Given the description of an element on the screen output the (x, y) to click on. 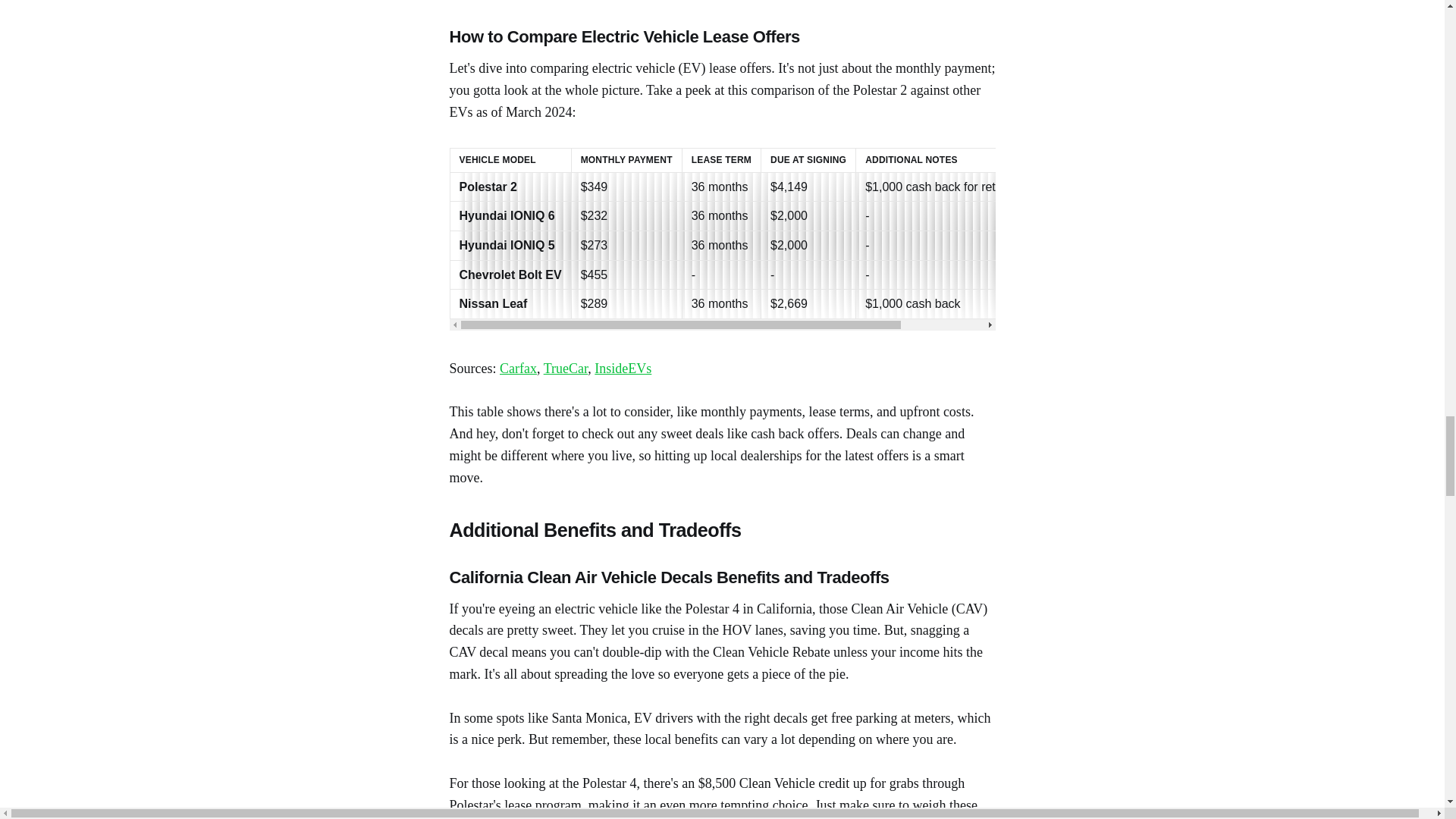
InsideEVs (622, 368)
TrueCar (565, 368)
Carfax (518, 368)
